Given the description of an element on the screen output the (x, y) to click on. 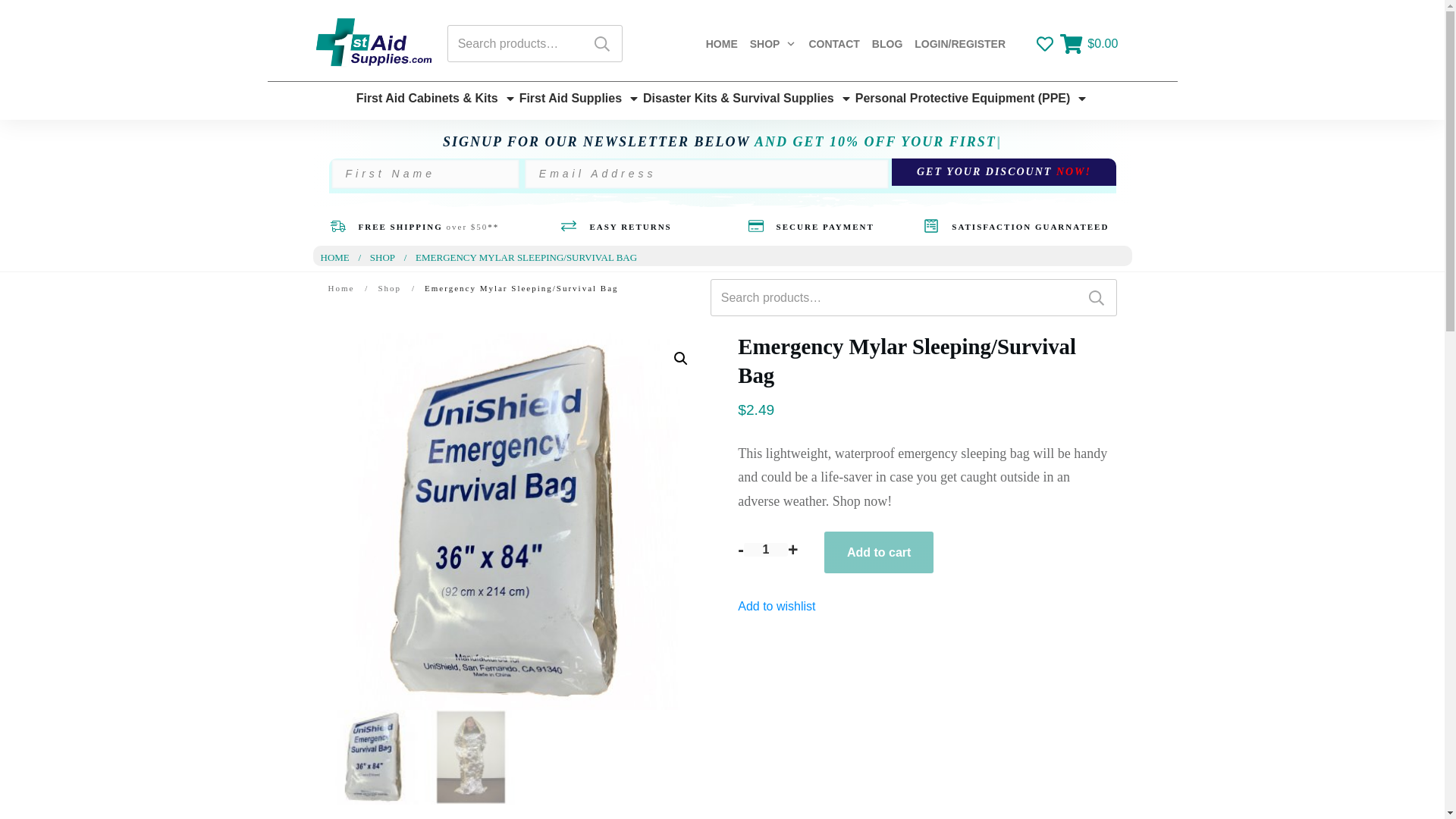
SHOP (772, 43)
BLOG (887, 43)
First Aid Supplies (579, 98)
HOME (722, 43)
CONTACT (833, 43)
1 (765, 549)
